Given the description of an element on the screen output the (x, y) to click on. 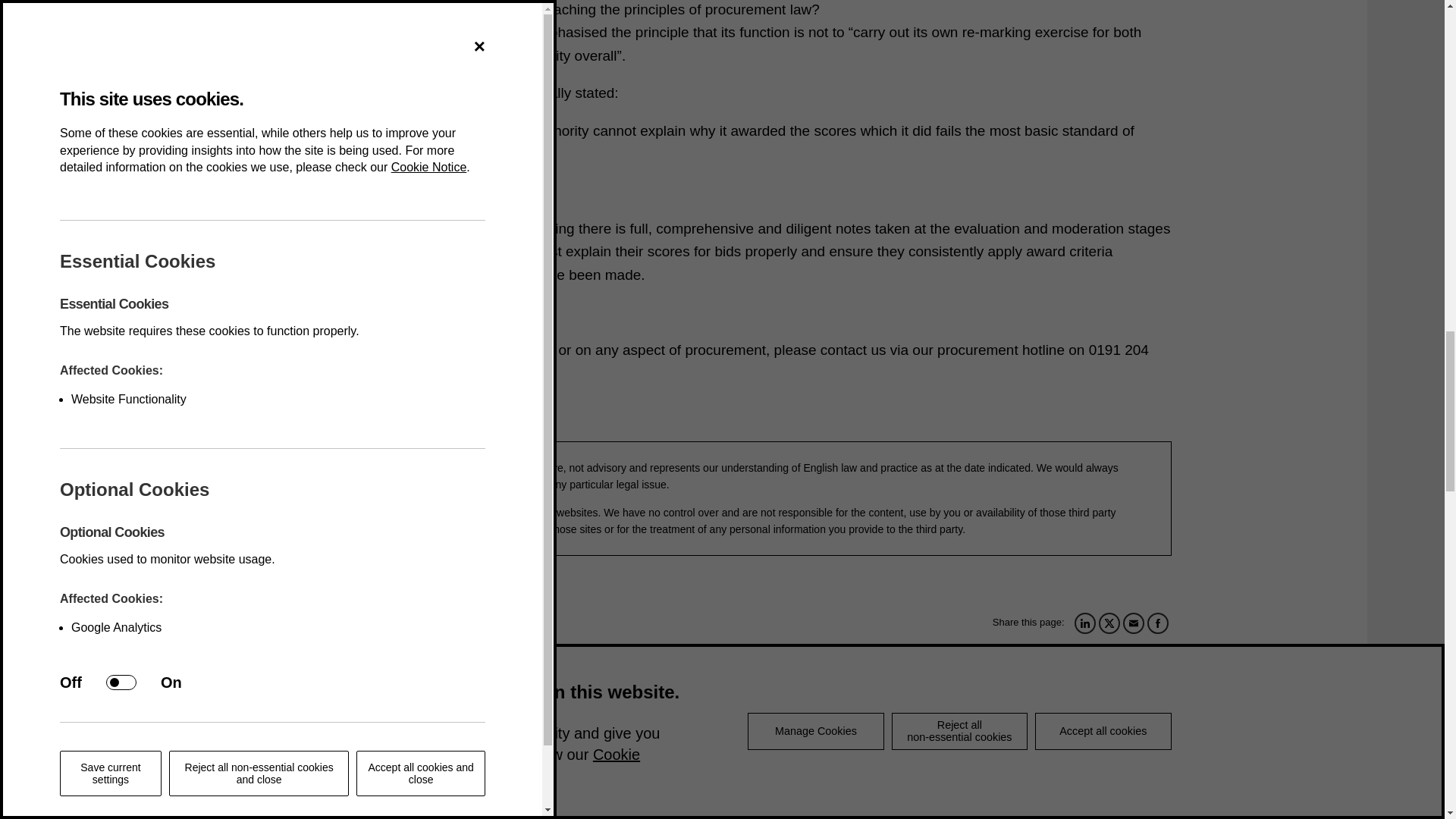
Share this article on LinkedIn (1084, 622)
Share this article on twitter (1108, 622)
